Given the description of an element on the screen output the (x, y) to click on. 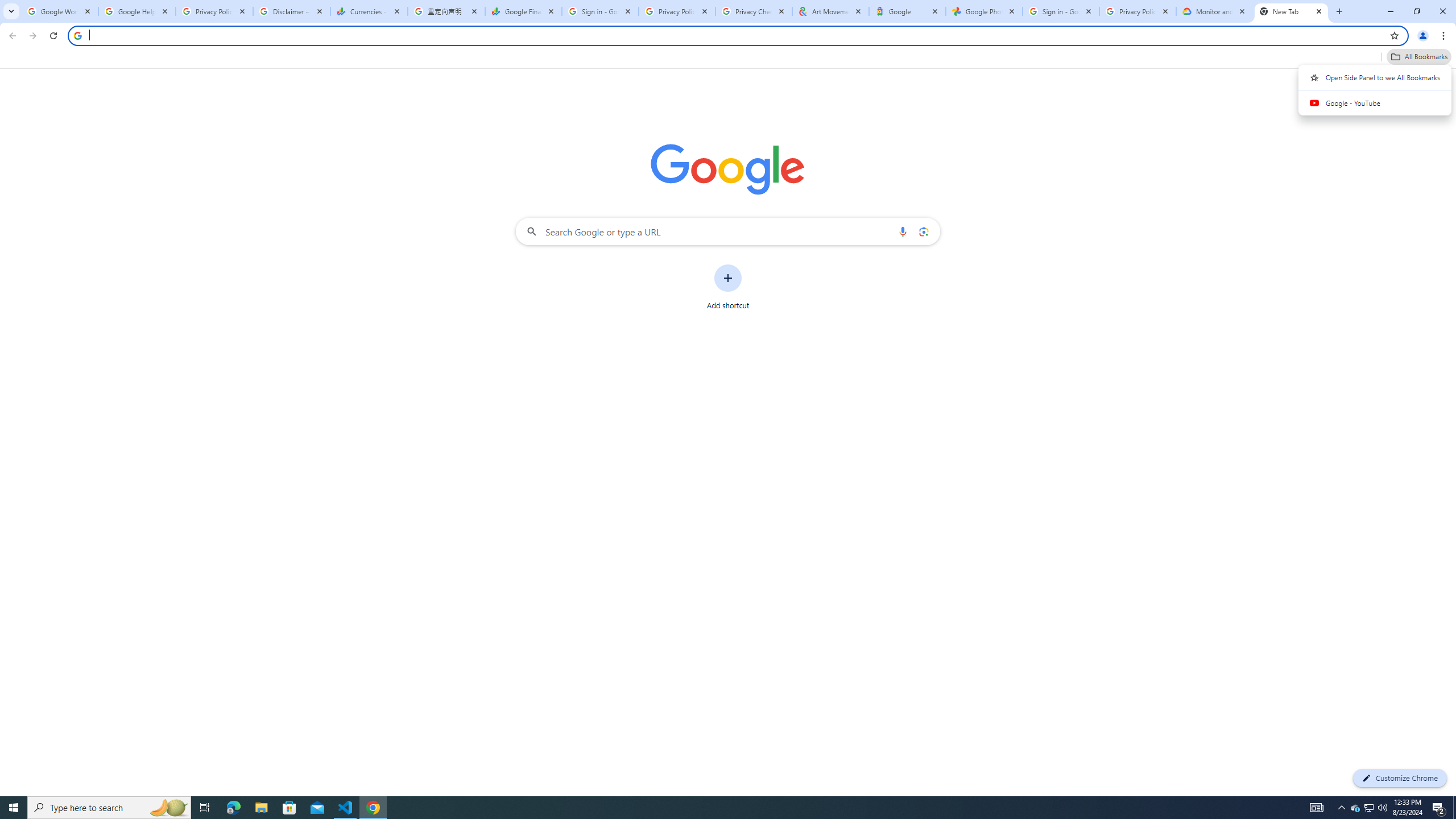
New Tab (1291, 11)
Google - YouTube (1374, 102)
Google Workspace Admin Community (59, 11)
Google (906, 11)
Privacy Checkup (753, 11)
